Given the description of an element on the screen output the (x, y) to click on. 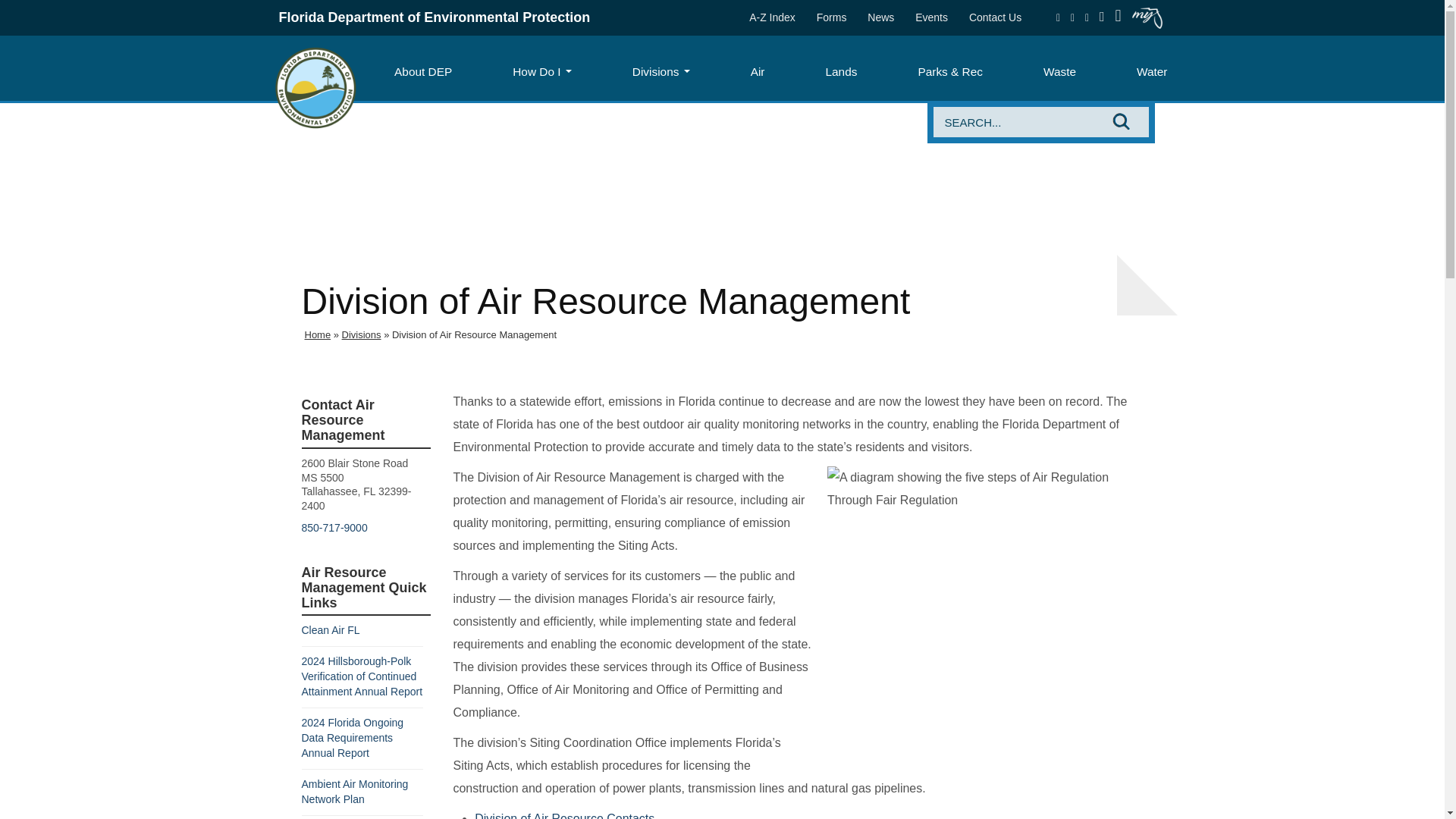
Waste (1059, 71)
Florida Department of Environmental Protection (314, 87)
Events (930, 17)
About DEP (422, 71)
Connect with DEP on Facebook (1058, 17)
Florida Department of Environmental Protection (435, 17)
Contact Us (994, 17)
Lands Topics (840, 71)
News (880, 17)
